Given the description of an element on the screen output the (x, y) to click on. 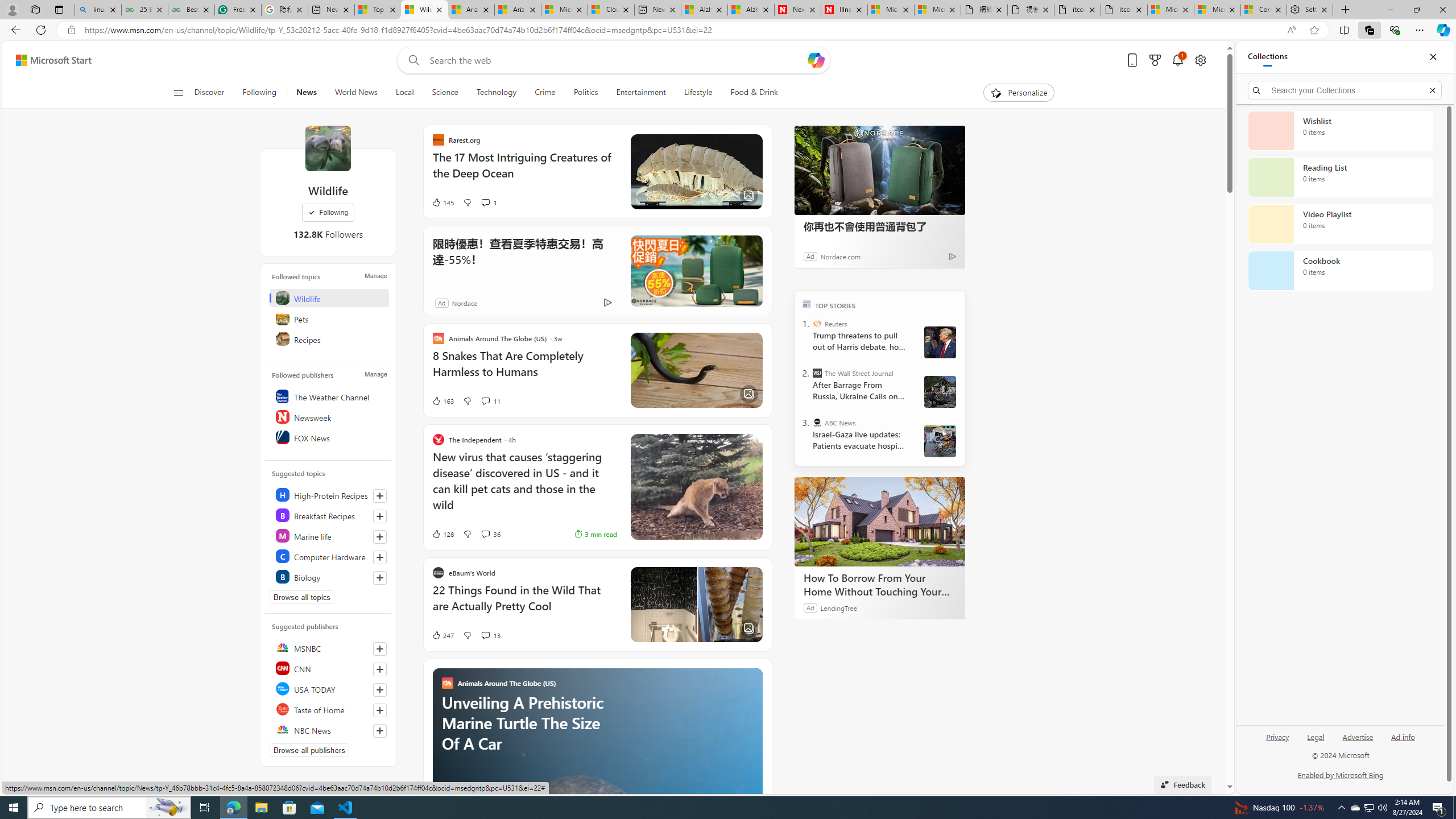
itconcepthk.com/projector_solutions.mp4 (1123, 9)
Newsweek (328, 416)
